Given the description of an element on the screen output the (x, y) to click on. 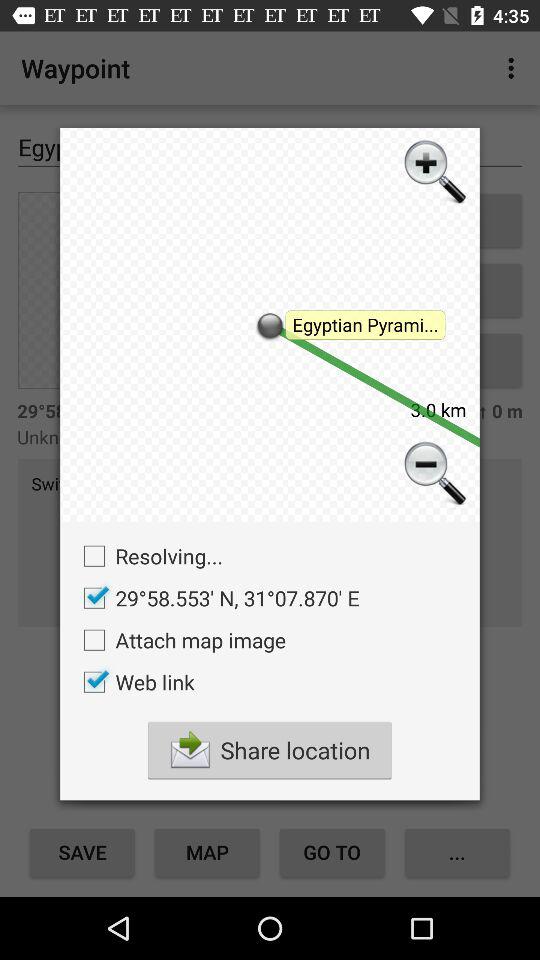
choose the web link checkbox (133, 682)
